Given the description of an element on the screen output the (x, y) to click on. 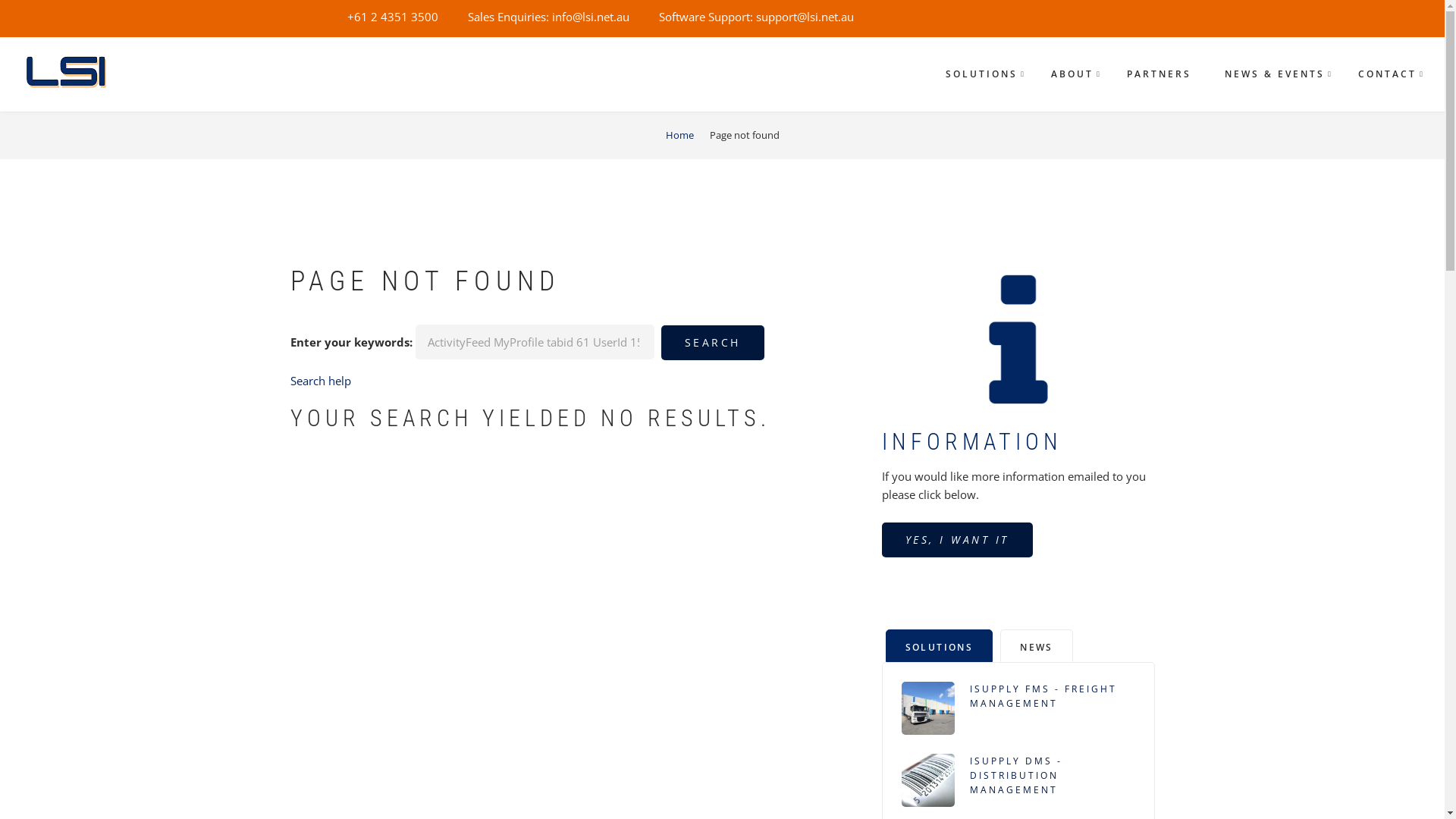
INFORMATION Element type: text (971, 441)
Search Element type: text (712, 342)
iSupply DMS - Distribution Management Element type: hover (926, 779)
ABOUT Element type: text (1072, 73)
Skip to main content Element type: text (0, 0)
ISUPPLY DMS - DISTRIBUTION MANAGEMENT Element type: text (1051, 775)
NEWS Element type: text (1036, 645)
Home Element type: hover (71, 71)
iSupply FMS - Freight Management Element type: hover (926, 707)
support@lsi.net.au Element type: text (804, 16)
ISUPPLY FMS - FREIGHT MANAGEMENT Element type: text (1051, 695)
Search help Element type: text (319, 380)
info@lsi.net.au Element type: text (590, 16)
YES, I WANT IT Element type: text (956, 539)
PARTNERS Element type: text (1158, 73)
SOLUTIONS Element type: text (981, 73)
NEWS & EVENTS Element type: text (1274, 73)
Home Element type: text (679, 134)
CONTACT Element type: text (1387, 73)
SOLUTIONS Element type: text (939, 645)
